Given the description of an element on the screen output the (x, y) to click on. 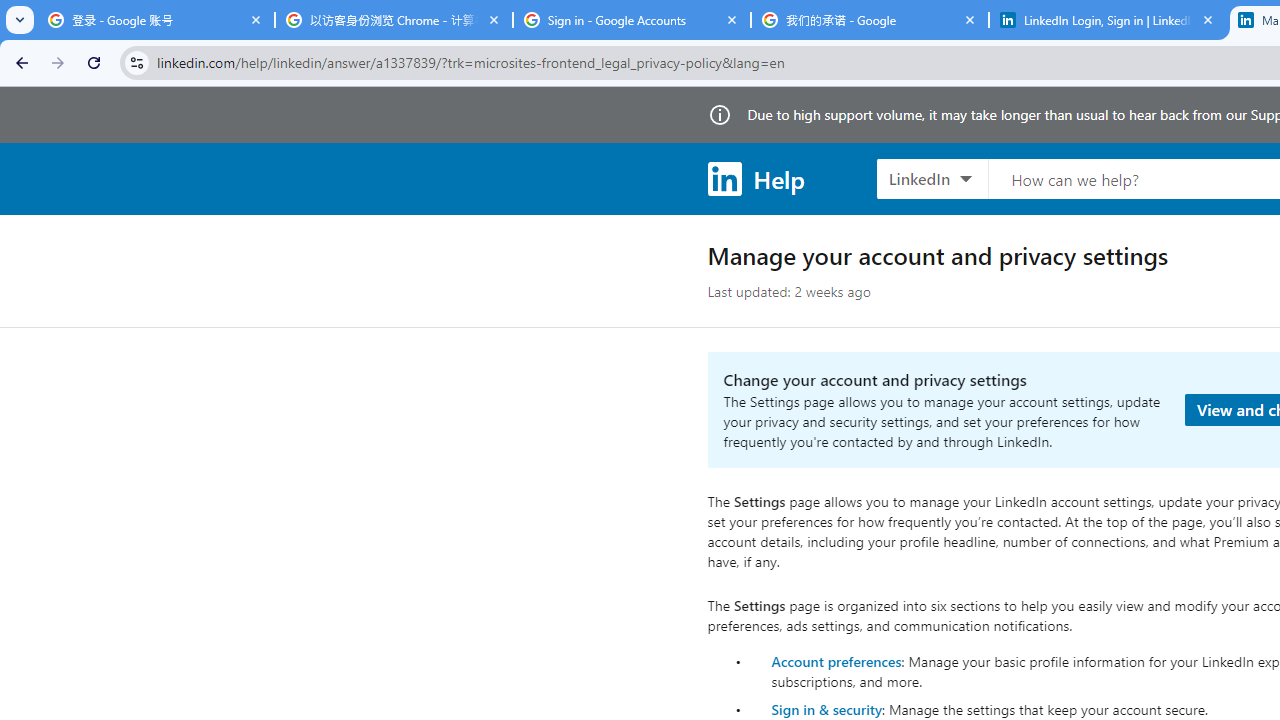
Sign in & security (826, 709)
Sign in - Google Accounts (632, 20)
LinkedIn Login, Sign in | LinkedIn (1108, 20)
Account preferences (836, 660)
LinkedIn products to search, LinkedIn selected (932, 178)
